Given the description of an element on the screen output the (x, y) to click on. 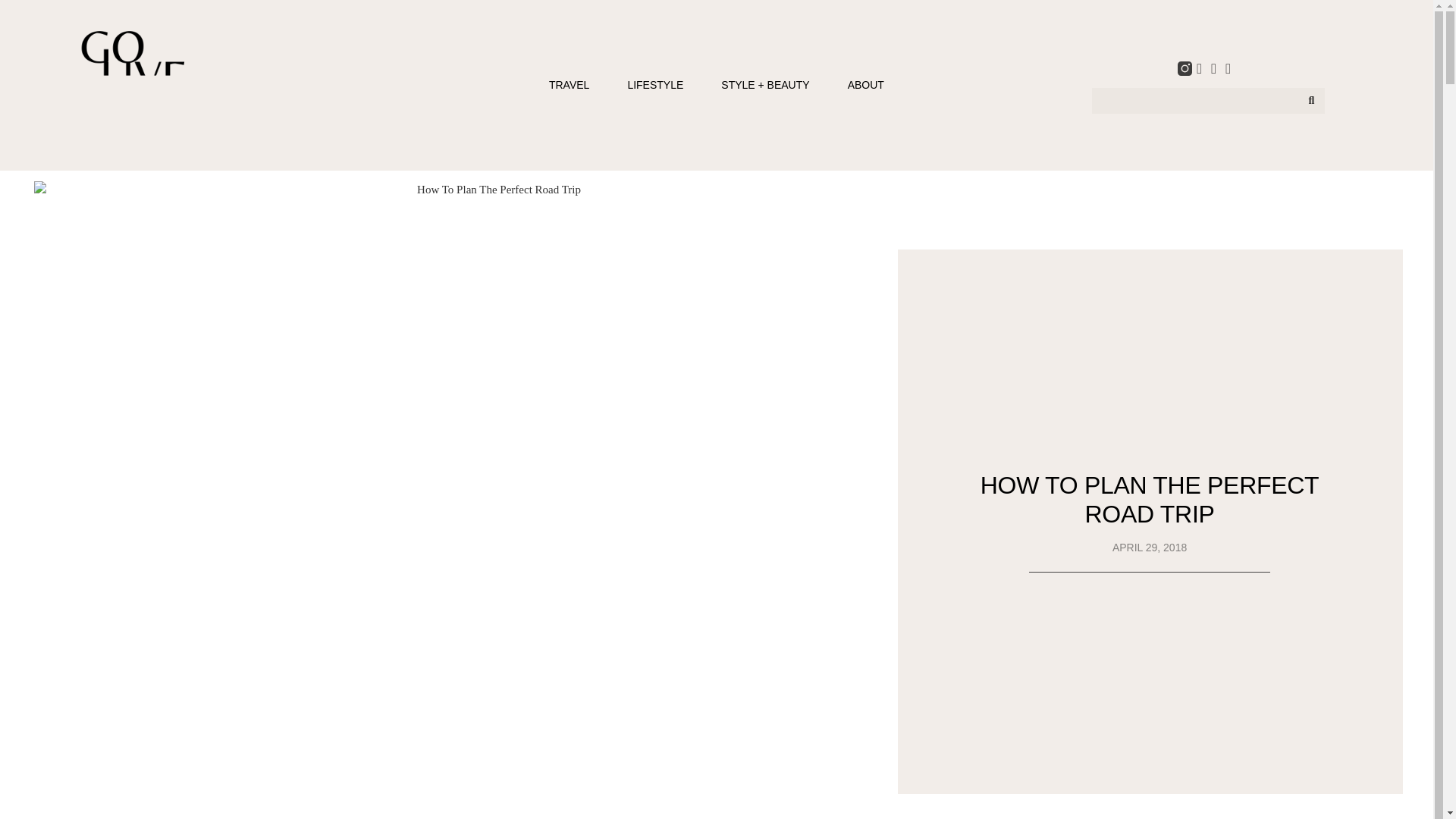
TRAVEL (568, 84)
LIFESTYLE (654, 84)
